Given the description of an element on the screen output the (x, y) to click on. 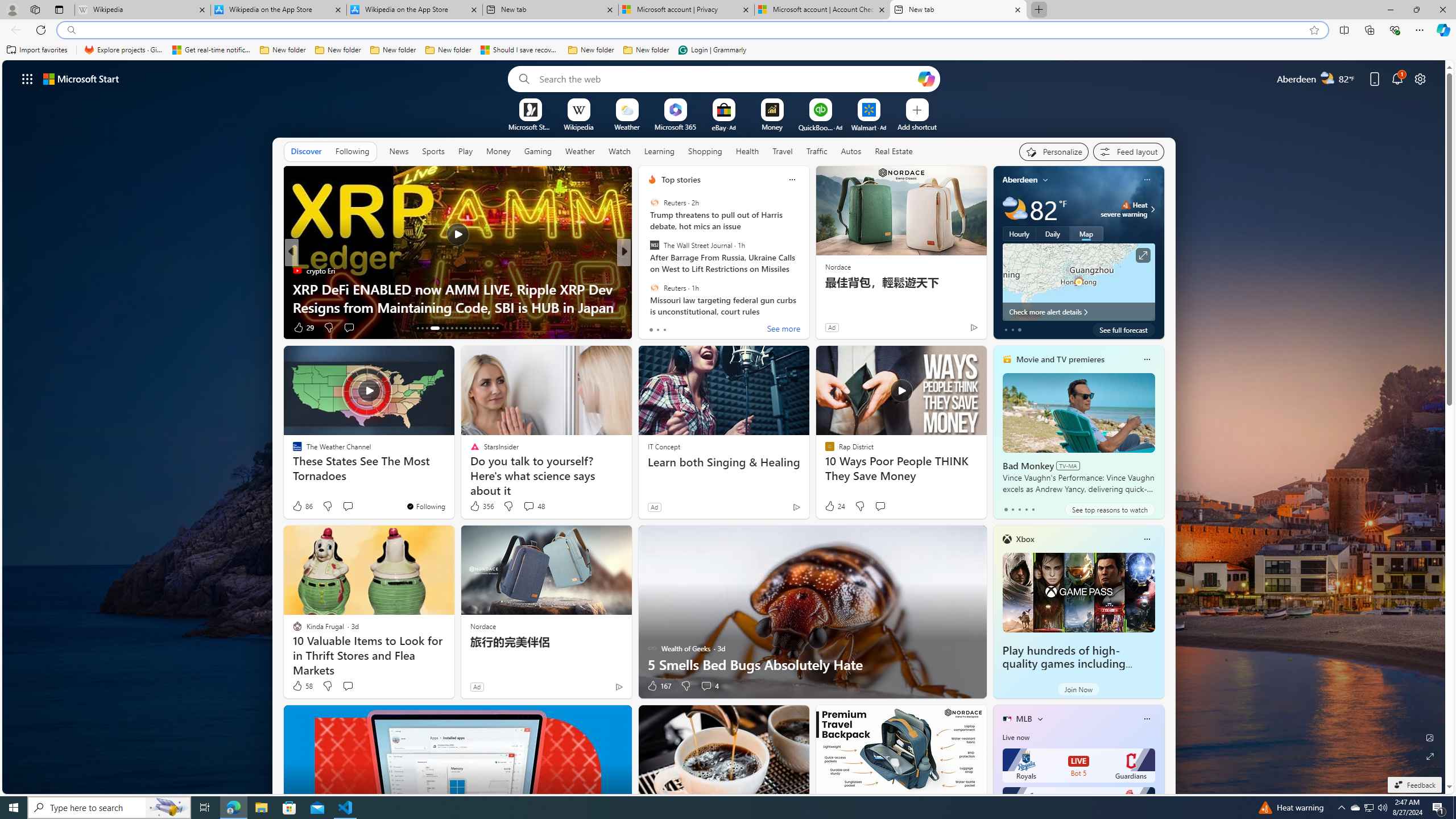
Feedback (1414, 784)
Personalize your feed" (1054, 151)
5 Places You Should Never Use a Debit Card (807, 307)
10 Like (303, 327)
MUO (647, 288)
Ad (476, 686)
Partly cloudy (1014, 208)
Money (498, 151)
Watch (619, 151)
Microsoft account | Privacy (685, 9)
AutomationID: tab-22 (465, 328)
Click to see more information (1142, 255)
AutomationID: tab-13 (417, 328)
